Given the description of an element on the screen output the (x, y) to click on. 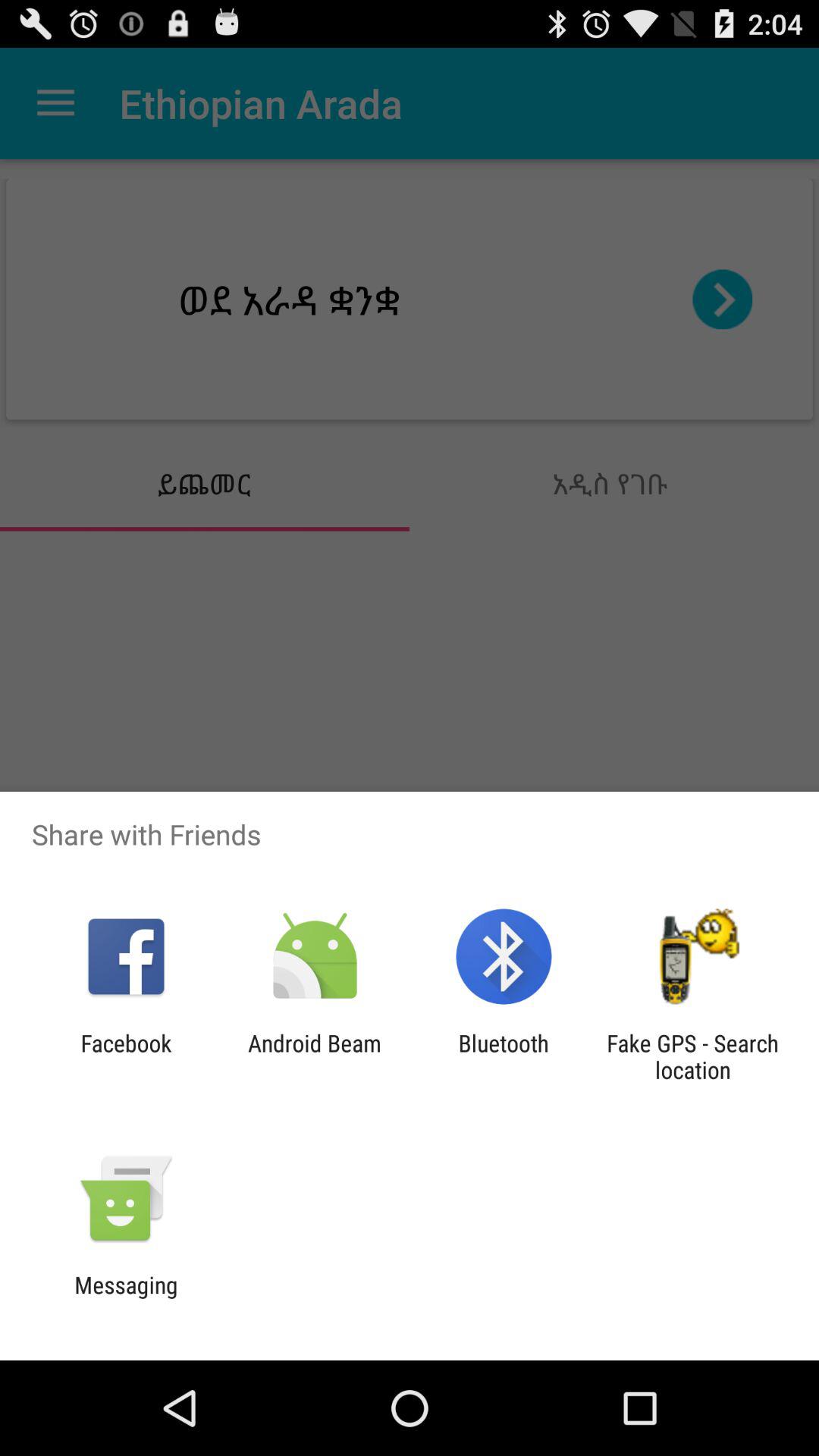
tap item to the right of the bluetooth item (692, 1056)
